Given the description of an element on the screen output the (x, y) to click on. 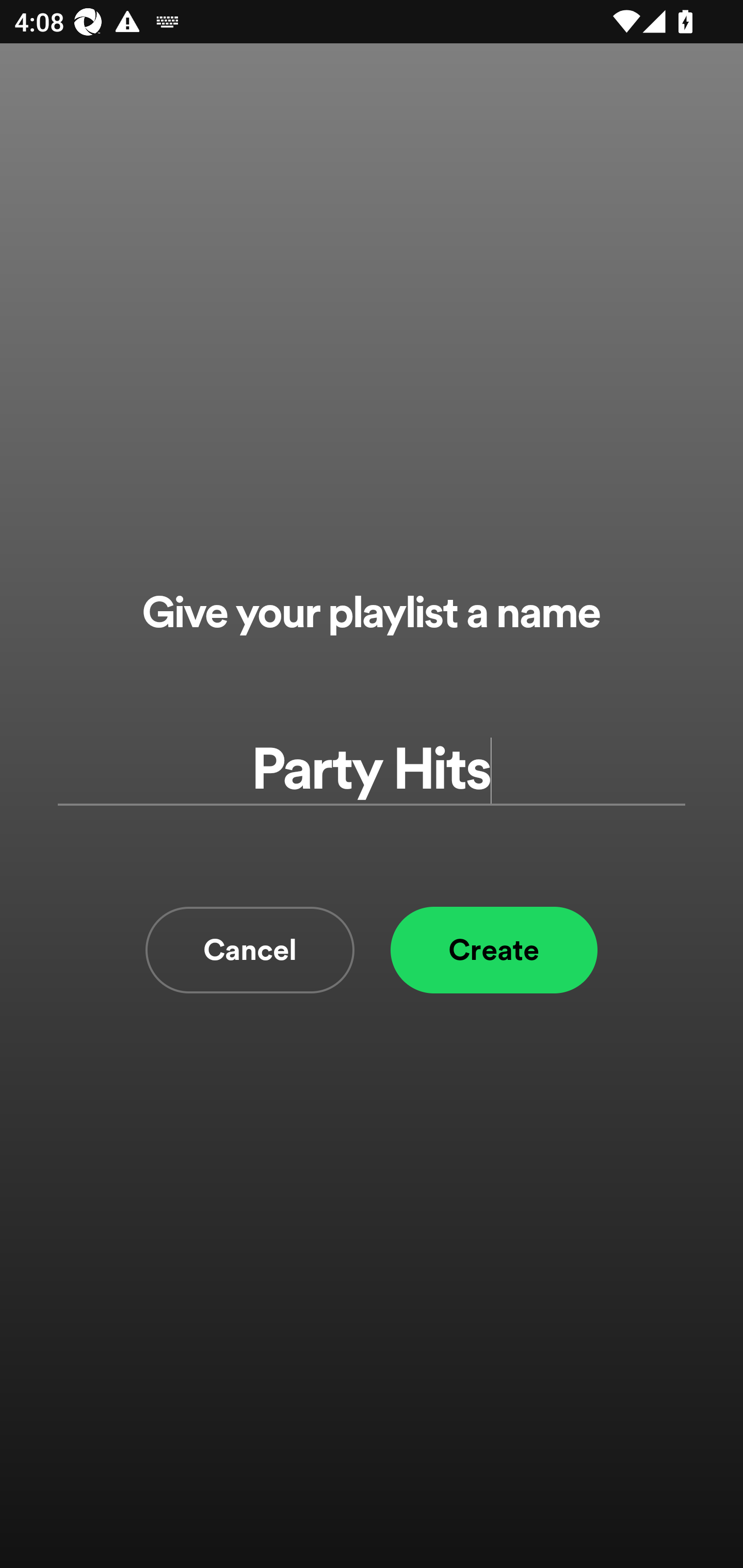
Party Hits Add a playlist name (371, 769)
Cancel (249, 950)
Create (493, 950)
